Given the description of an element on the screen output the (x, y) to click on. 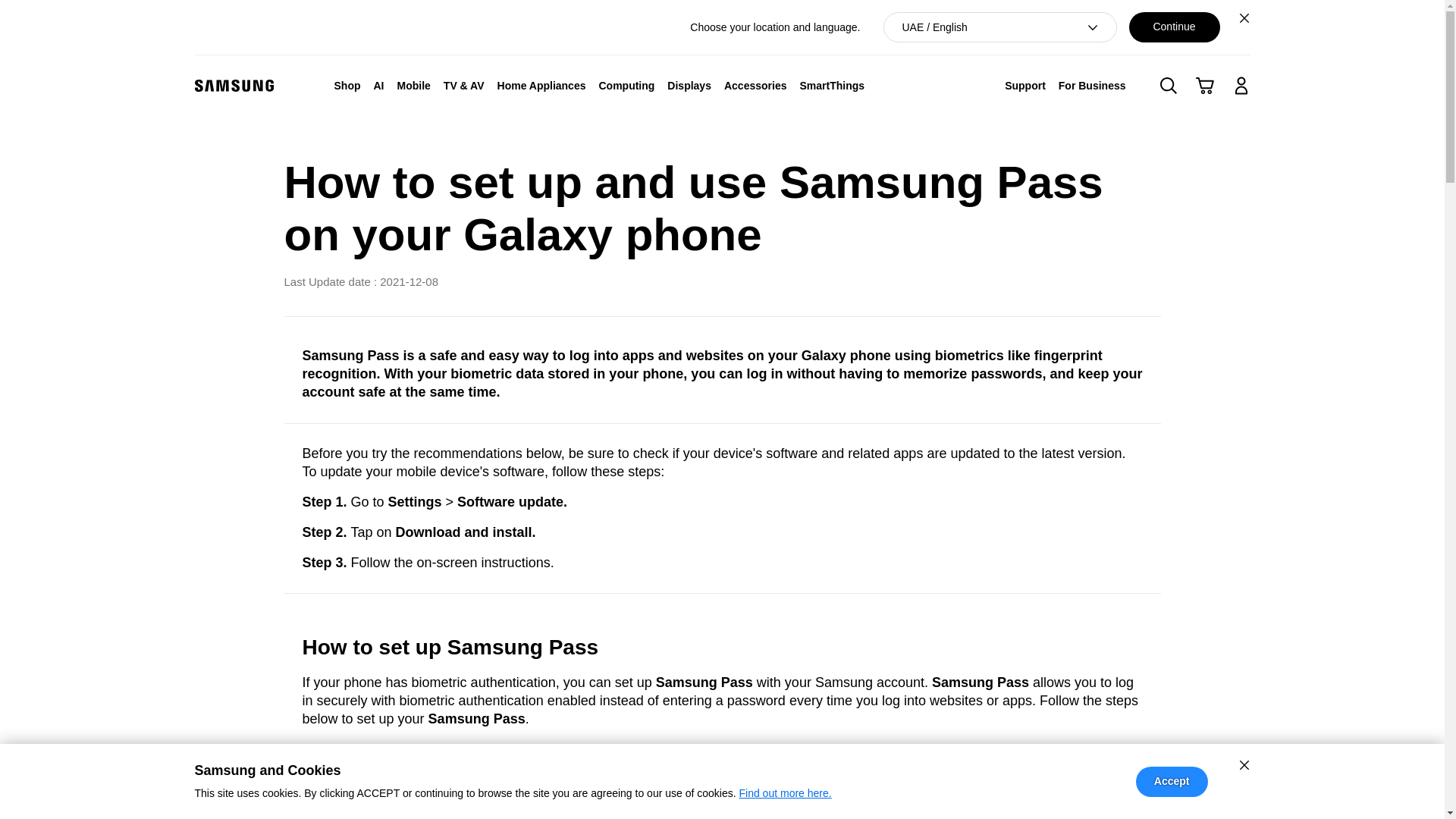
Accept (1171, 781)
Shop (346, 85)
close (1243, 764)
Close (1243, 17)
Find out more here. (784, 793)
Continue (1174, 27)
Accept (1171, 781)
